Given the description of an element on the screen output the (x, y) to click on. 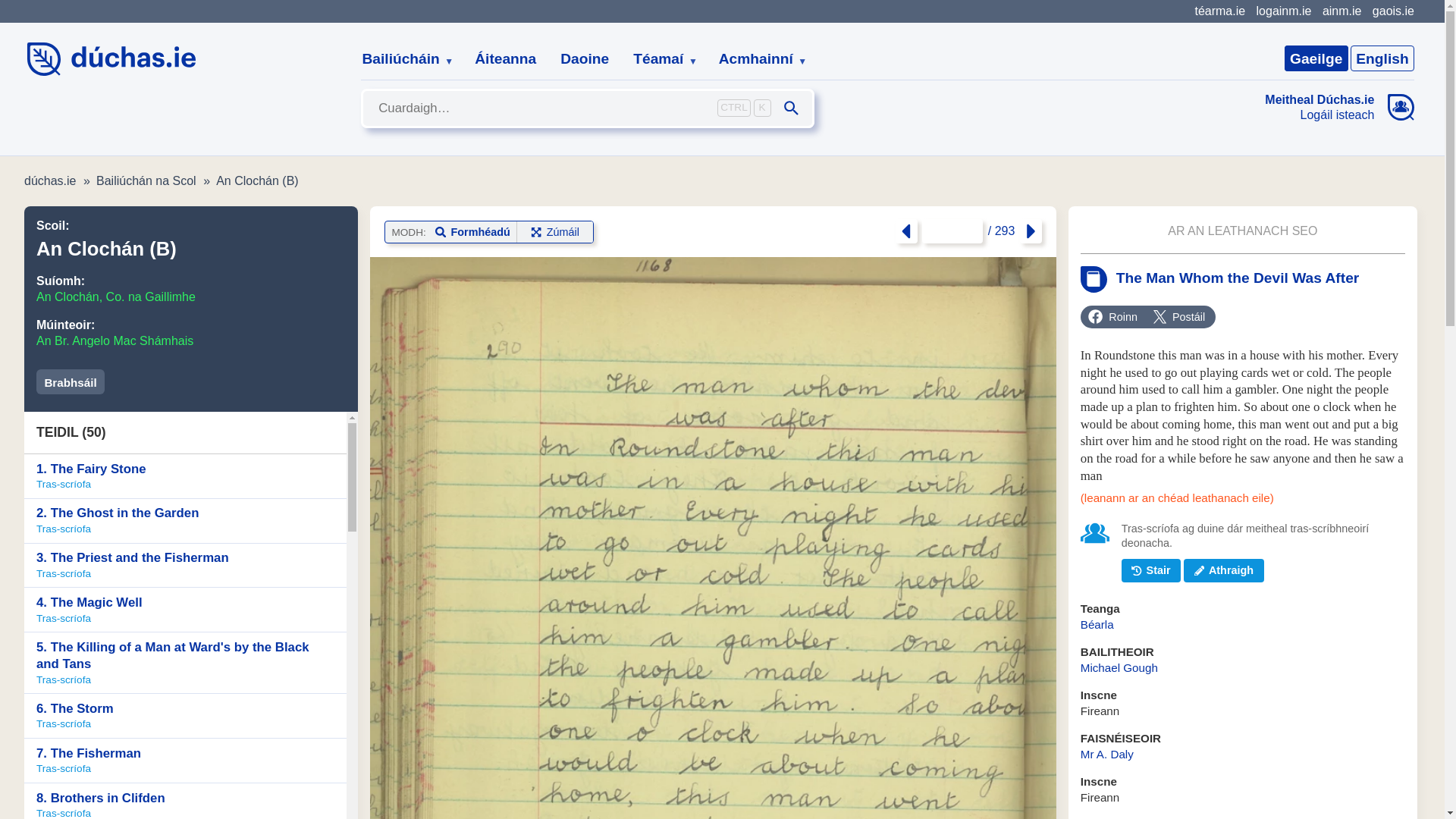
Daoine (584, 58)
gaois.ie (1393, 11)
English (1382, 58)
Gaeilge (1316, 58)
logainm.ie (1283, 11)
ainm.ie (1341, 11)
